Given the description of an element on the screen output the (x, y) to click on. 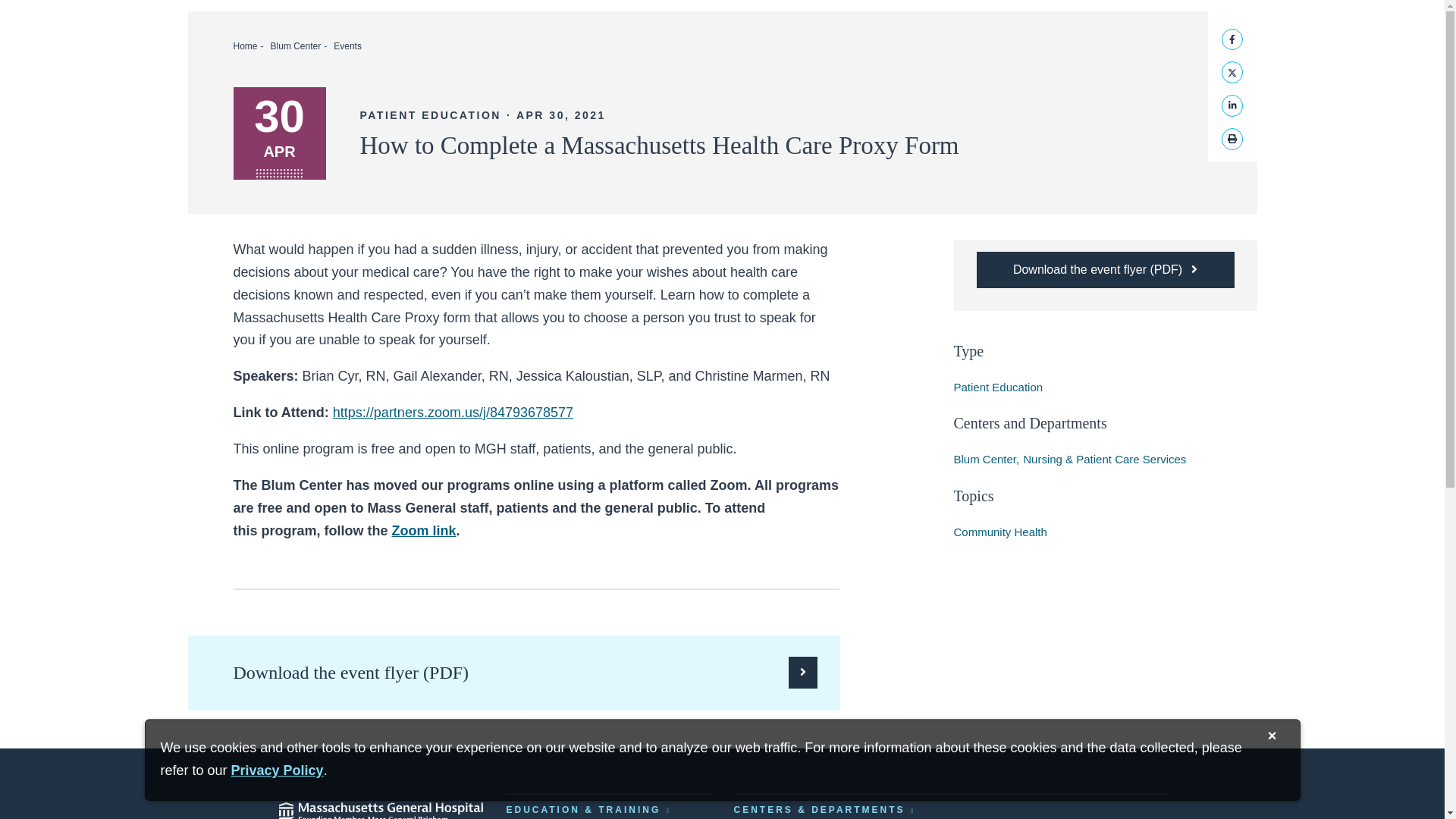
Events (347, 45)
Blum Center (295, 45)
Privacy Policy (277, 770)
Home (244, 45)
Blum Center (986, 459)
Zoom link (424, 530)
Community Health (999, 531)
Patient Education (998, 386)
Massachusetts General Hospital - Home (381, 806)
